Given the description of an element on the screen output the (x, y) to click on. 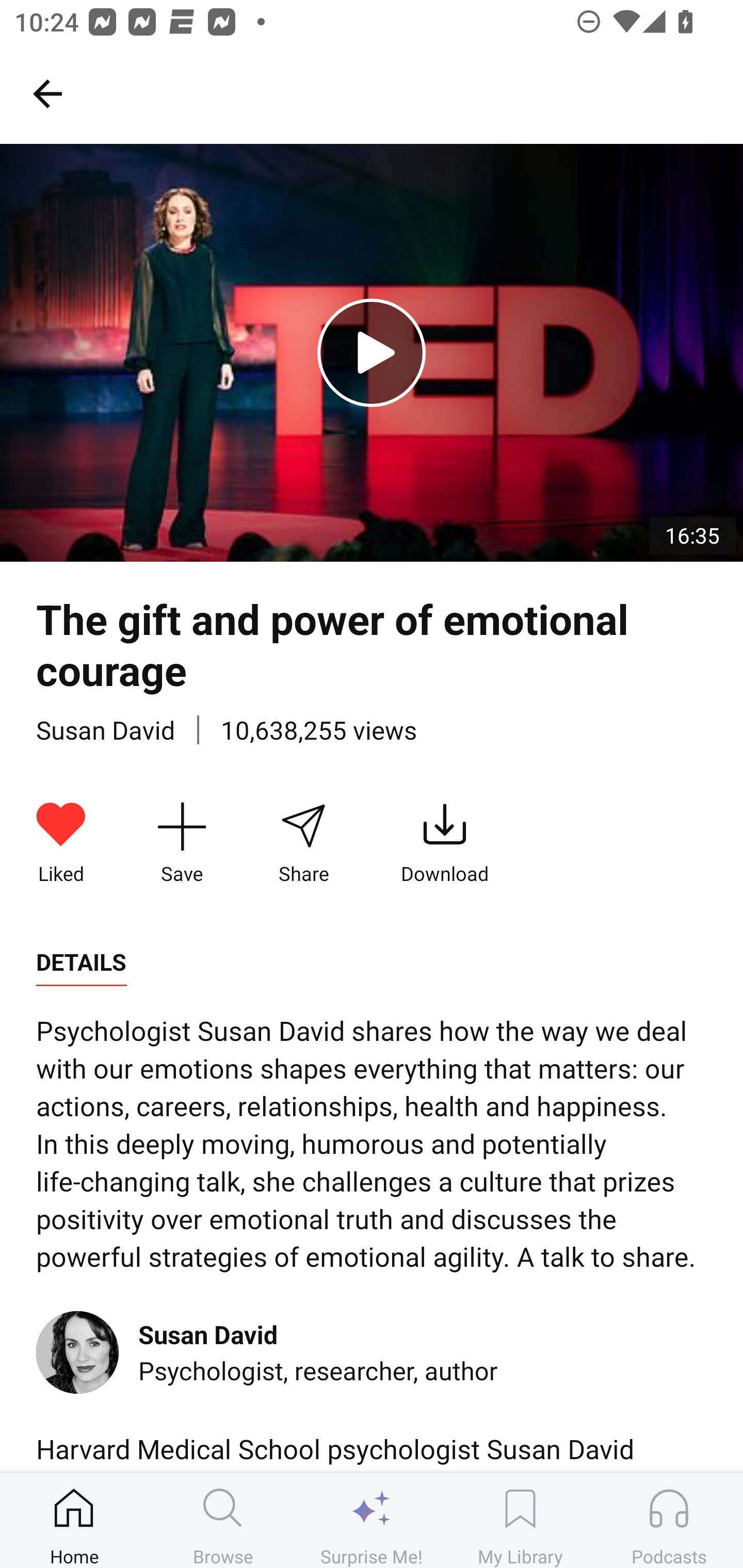
Home, back (47, 92)
Liked (60, 843)
Save (181, 843)
Share (302, 843)
Download (444, 843)
DETAILS (80, 962)
Home (74, 1520)
Browse (222, 1520)
Surprise Me! (371, 1520)
My Library (519, 1520)
Podcasts (668, 1520)
